Given the description of an element on the screen output the (x, y) to click on. 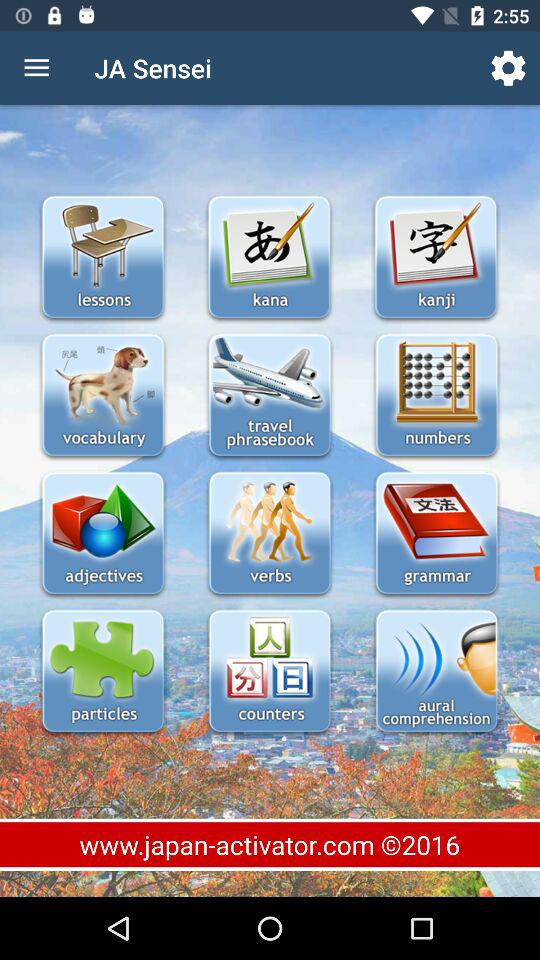
open (102, 534)
